Given the description of an element on the screen output the (x, y) to click on. 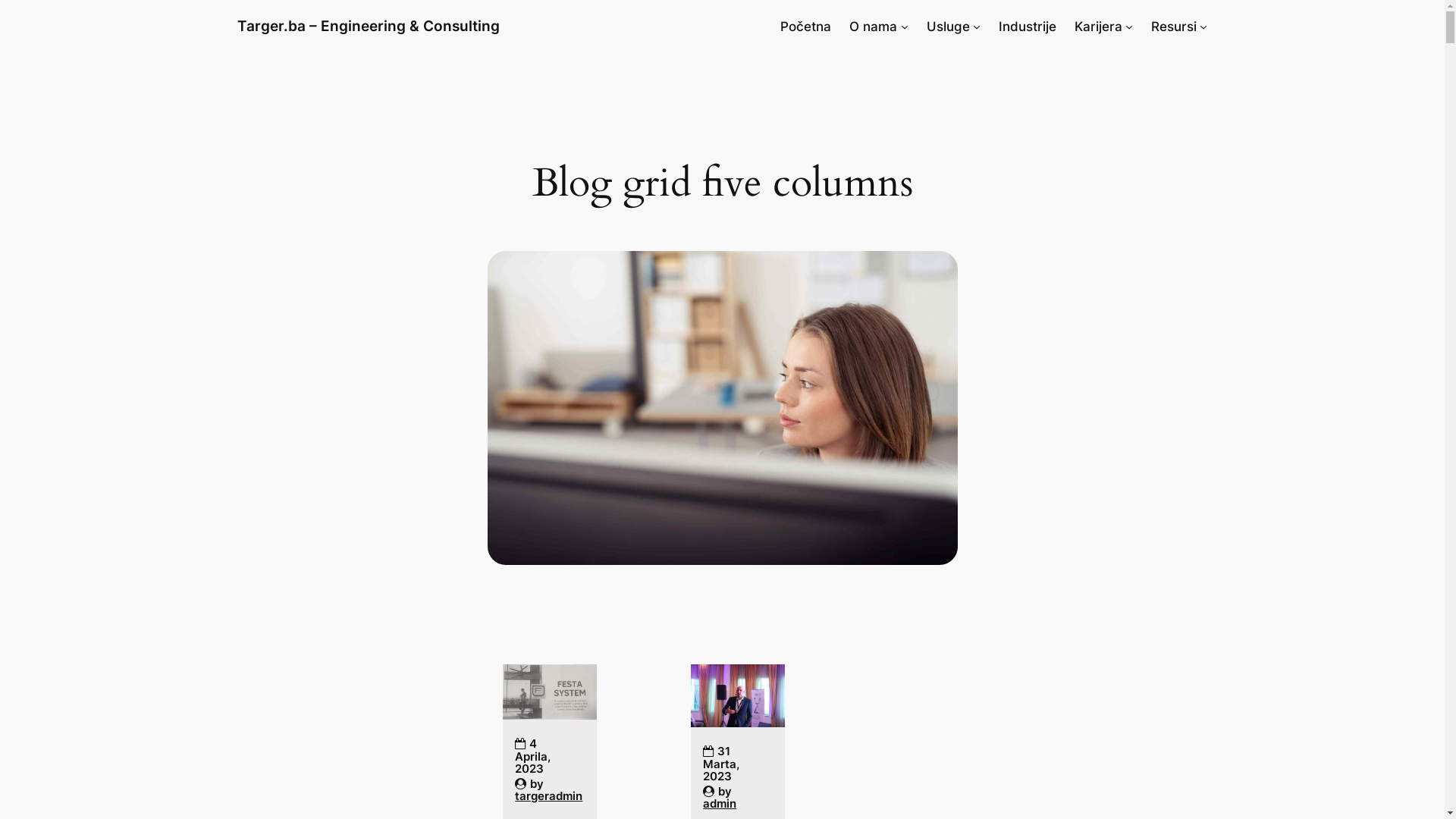
Resursi Element type: text (1173, 26)
Industrije Element type: text (1027, 26)
admin Element type: text (719, 803)
targeradmin Element type: text (548, 796)
O nama Element type: text (873, 26)
Usluge Element type: text (947, 26)
Karijera Element type: text (1098, 26)
